Given the description of an element on the screen output the (x, y) to click on. 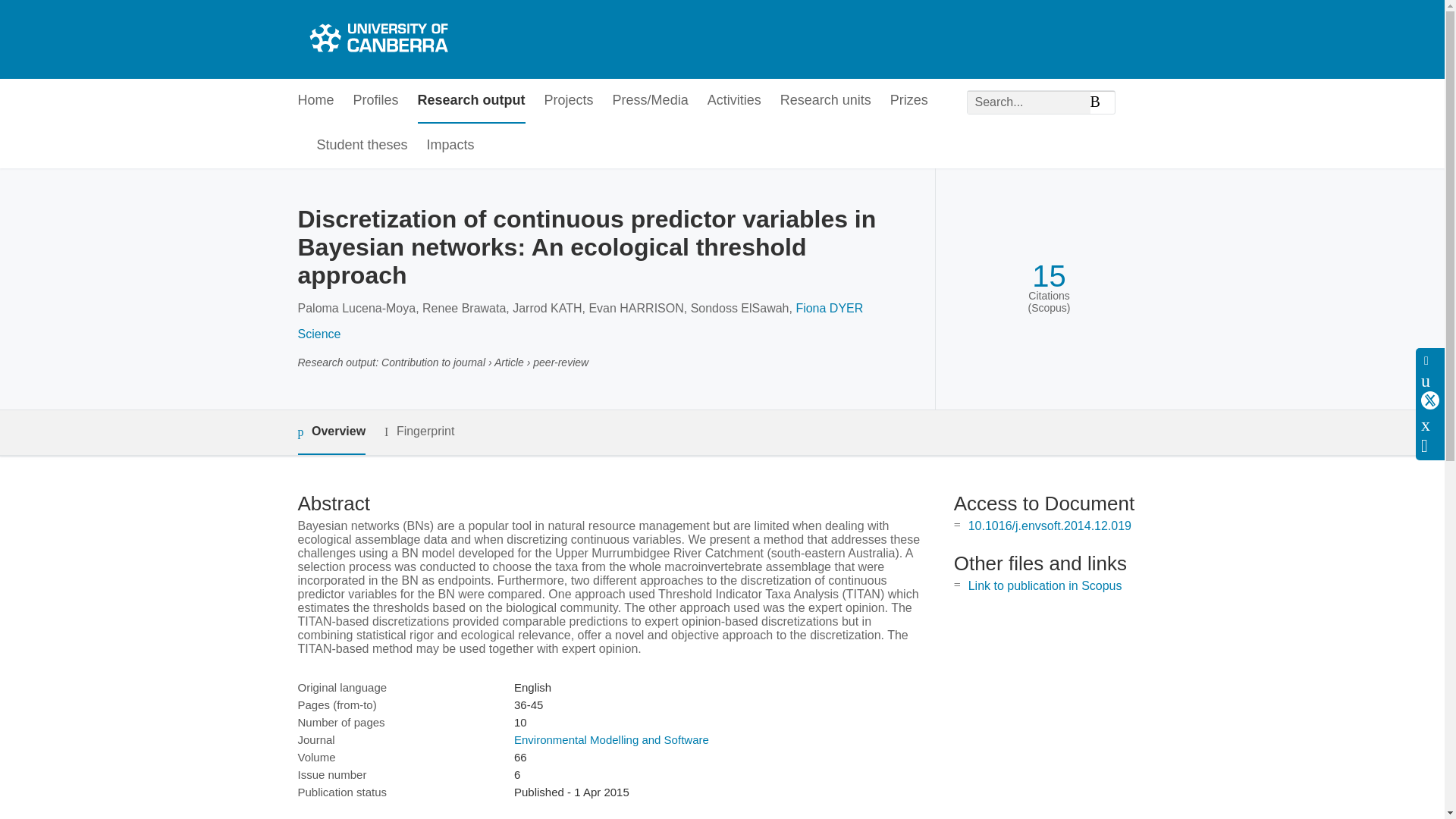
Profiles (375, 100)
Activities (734, 100)
Science (318, 333)
Projects (569, 100)
Link to publication in Scopus (1045, 585)
Environmental Modelling and Software (611, 739)
15 (1048, 275)
University of Canberra Research Portal Home (377, 39)
Impacts (450, 145)
Overview (331, 432)
Research output (471, 100)
Fiona DYER (828, 308)
Fingerprint (419, 431)
Student theses (362, 145)
